Given the description of an element on the screen output the (x, y) to click on. 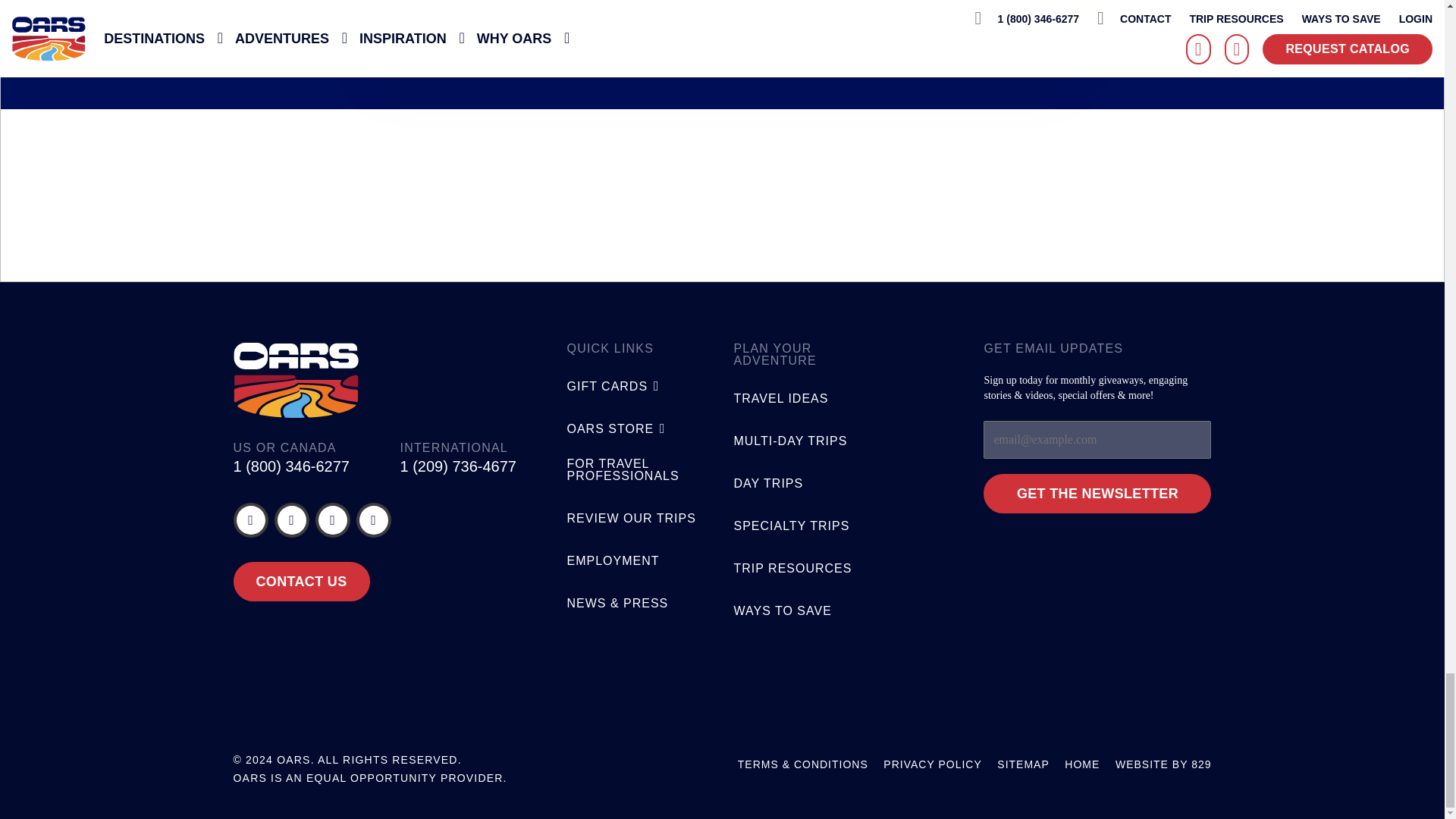
Sign Up (999, 6)
Get The Newsletter (1097, 493)
